Given the description of an element on the screen output the (x, y) to click on. 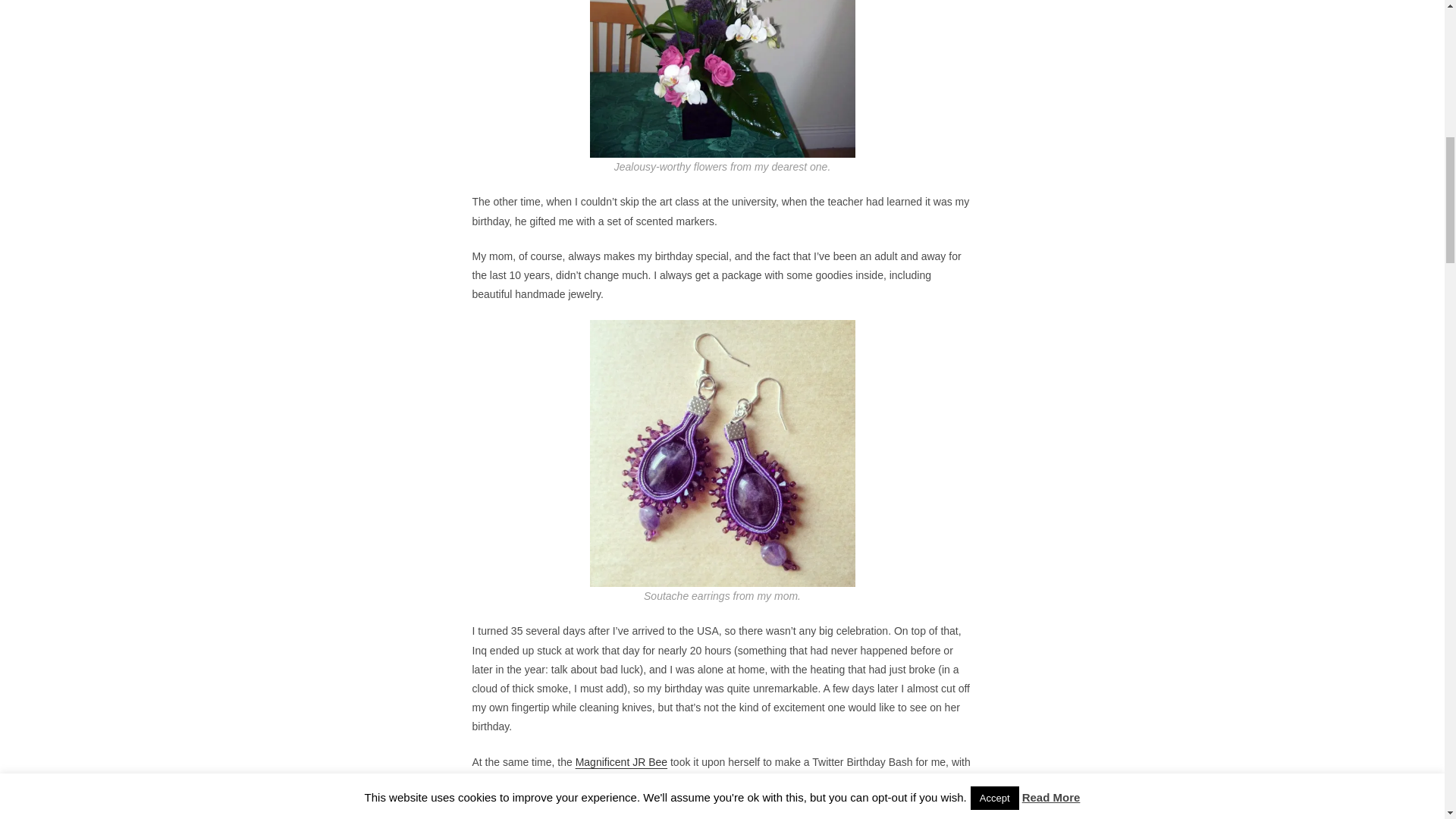
Magnificent JR Bee (620, 761)
